Given the description of an element on the screen output the (x, y) to click on. 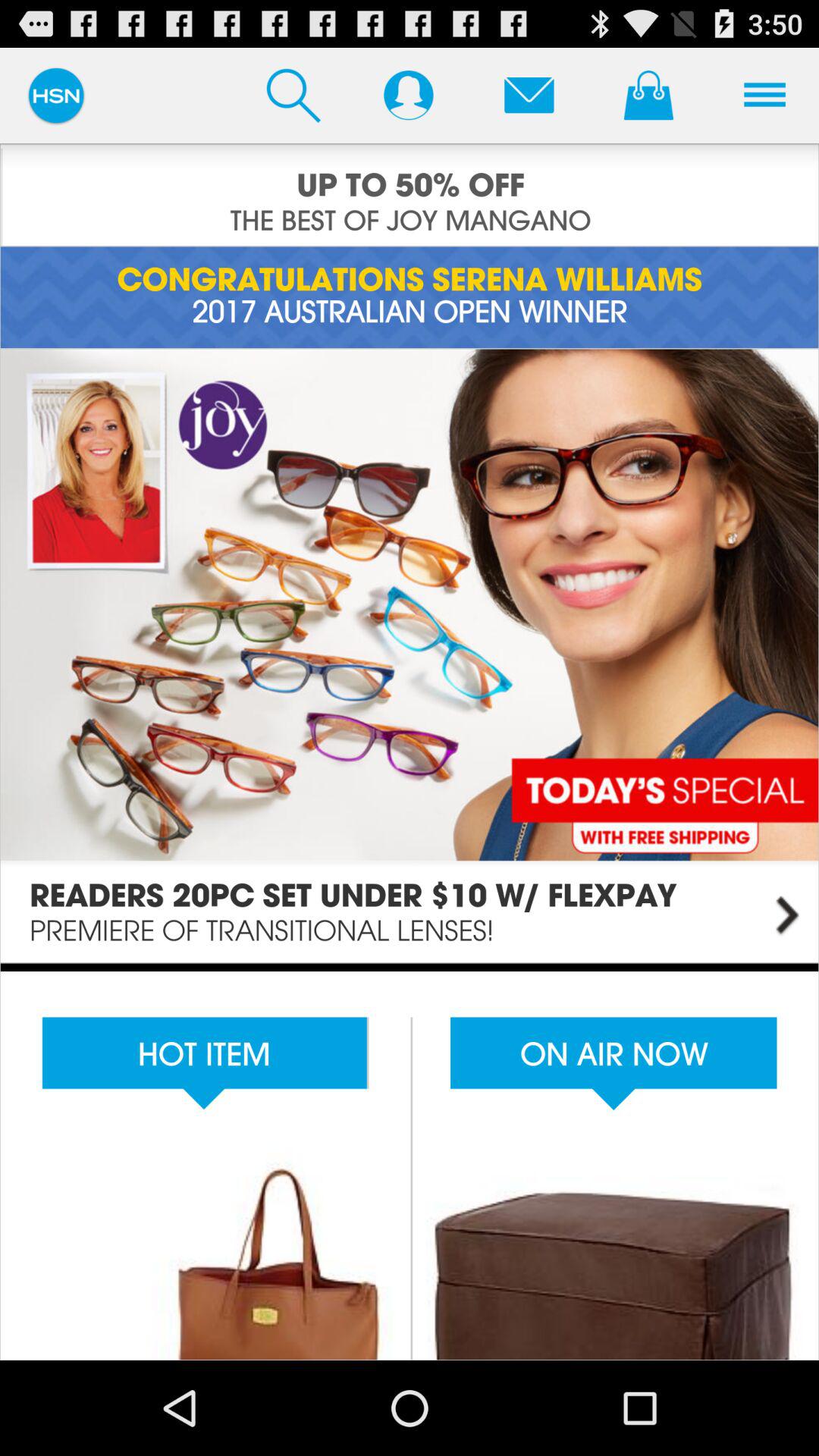
my account (408, 95)
